Given the description of an element on the screen output the (x, y) to click on. 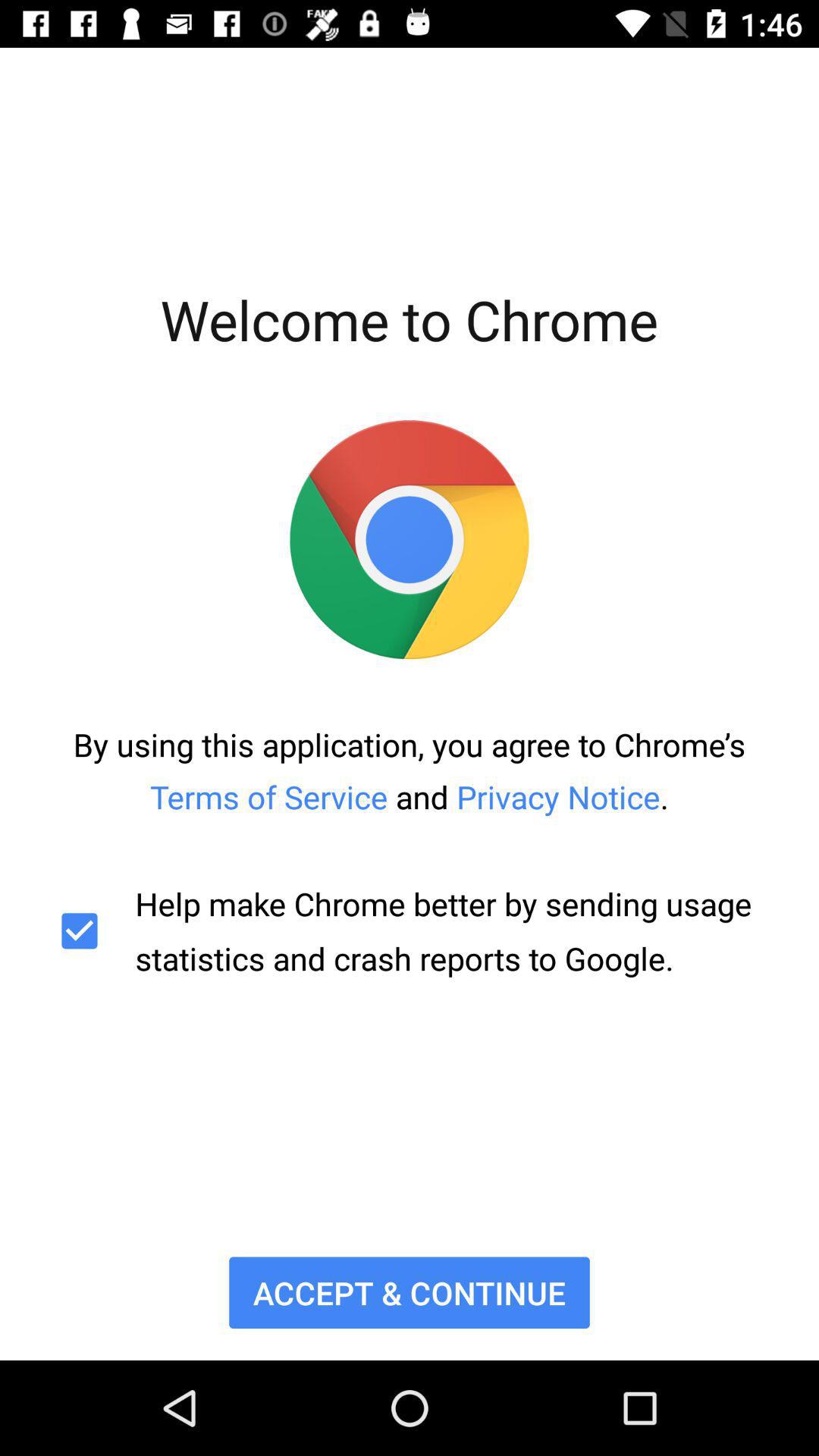
press item above accept & continue (409, 930)
